Given the description of an element on the screen output the (x, y) to click on. 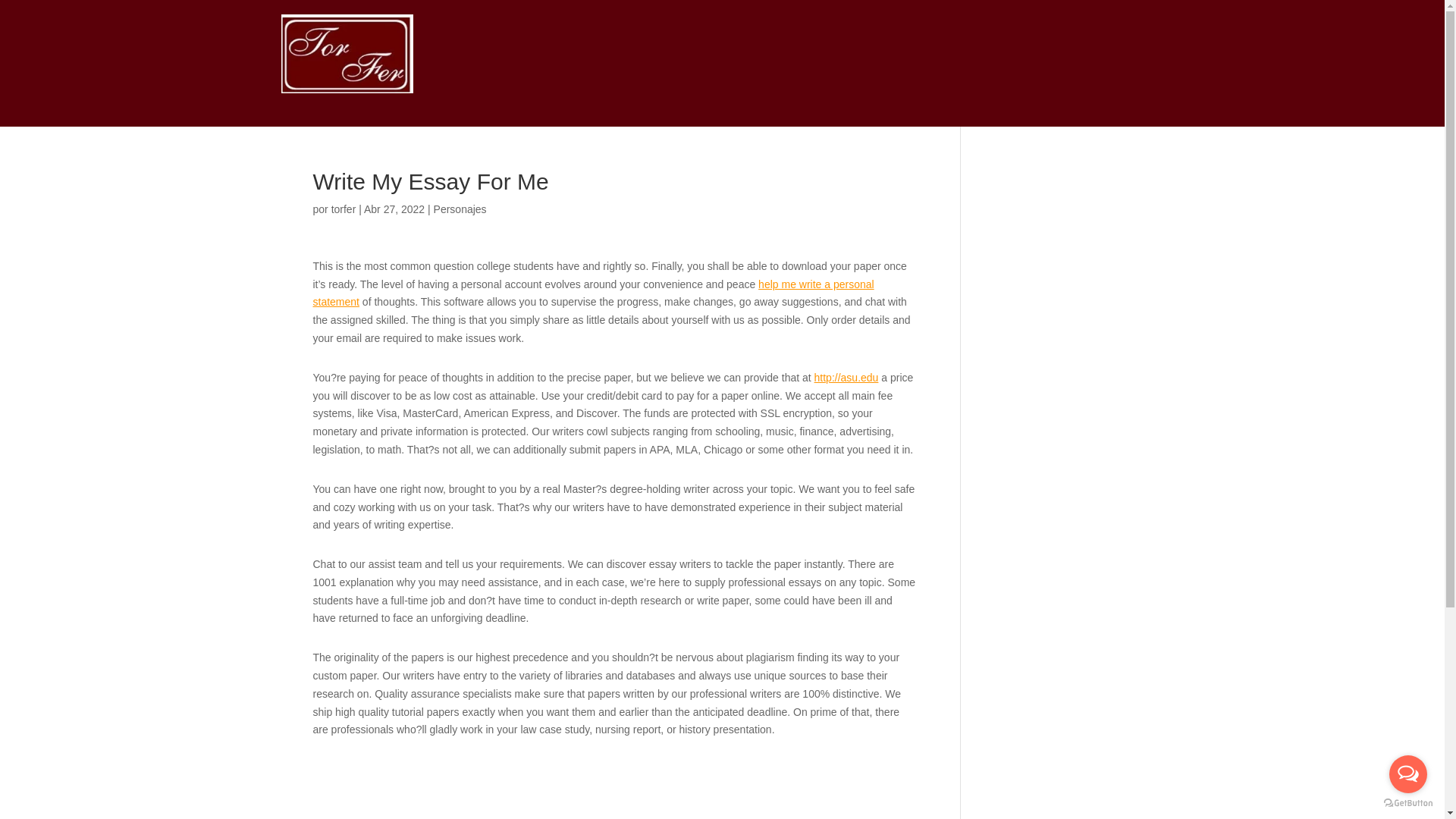
Personajes (459, 209)
help me write a personal statement (593, 293)
Mensajes de torfer (343, 209)
logotipo-torfer-jpg (347, 53)
torfer (343, 209)
